Given the description of an element on the screen output the (x, y) to click on. 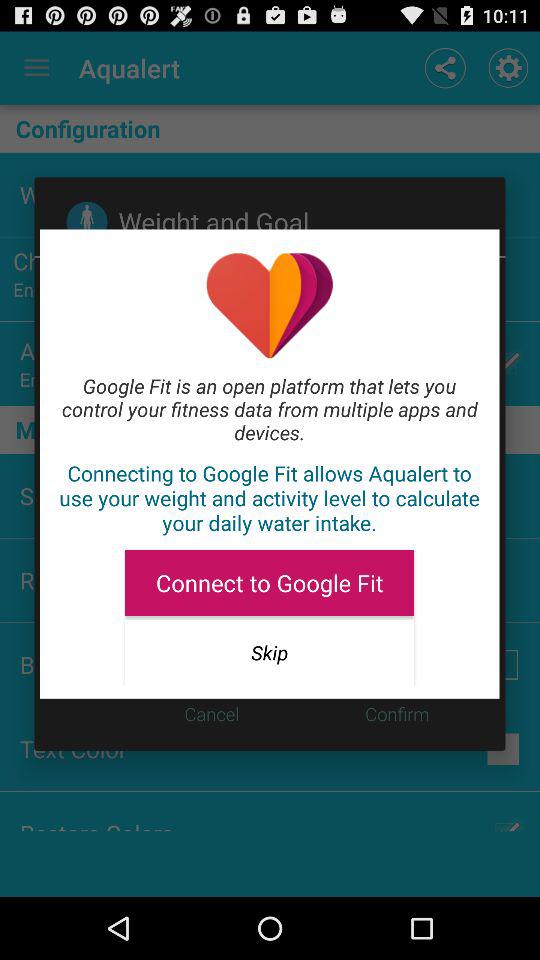
select icon below the connect to google (269, 652)
